Given the description of an element on the screen output the (x, y) to click on. 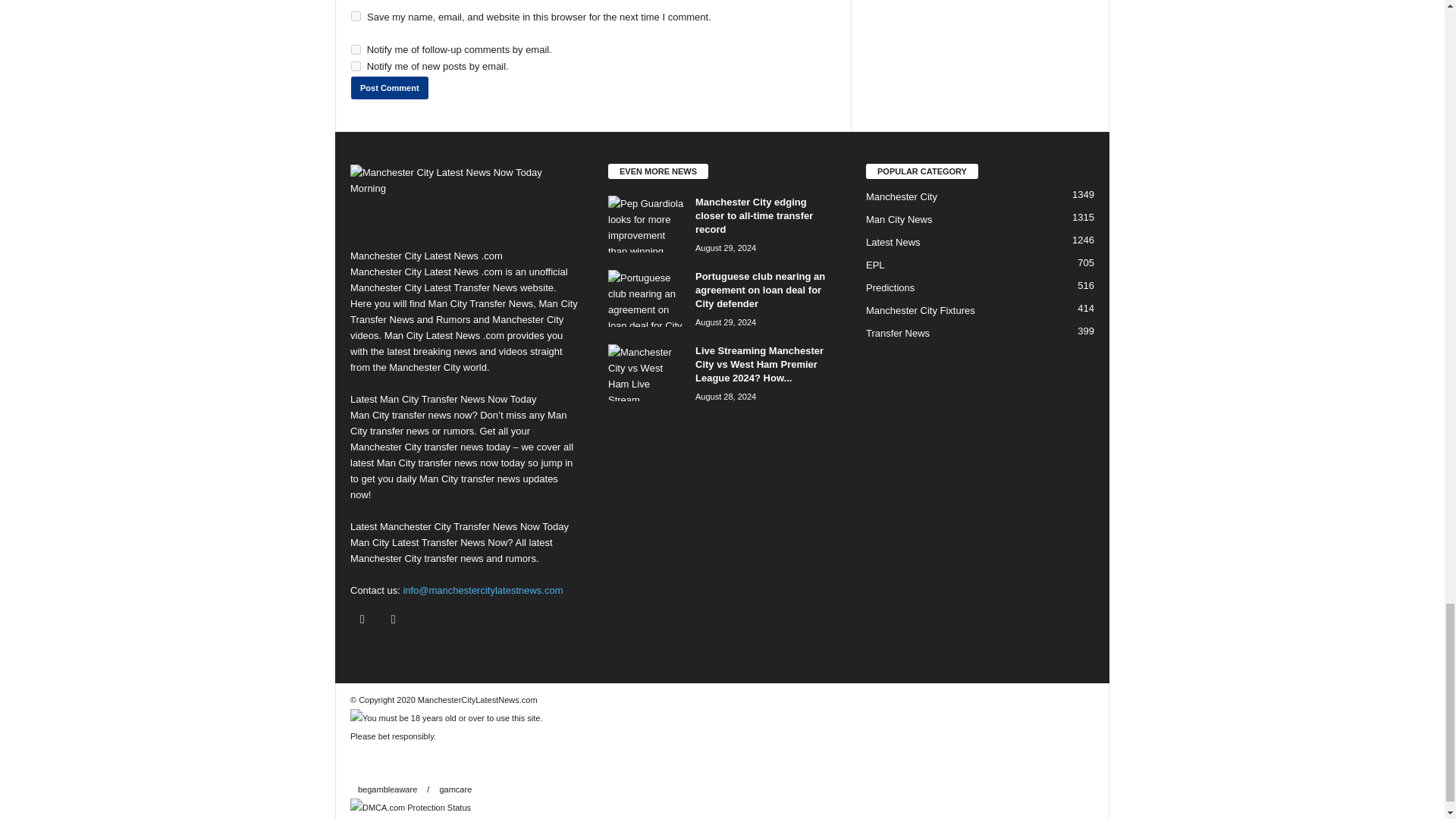
Post Comment (389, 87)
subscribe (355, 66)
subscribe (355, 49)
yes (355, 16)
